Given the description of an element on the screen output the (x, y) to click on. 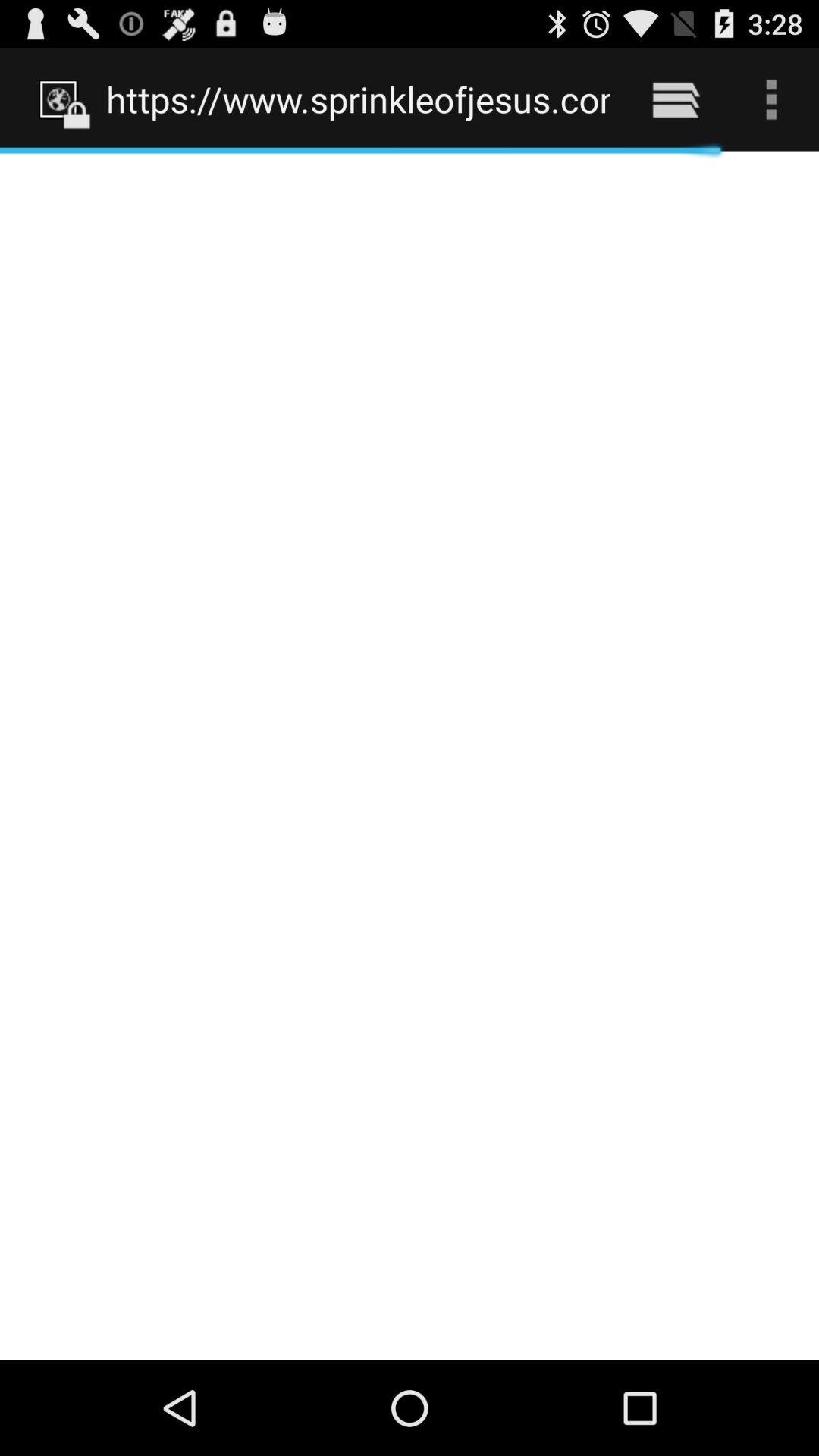
press the icon to the right of https www sprinkleofjesus icon (675, 99)
